Given the description of an element on the screen output the (x, y) to click on. 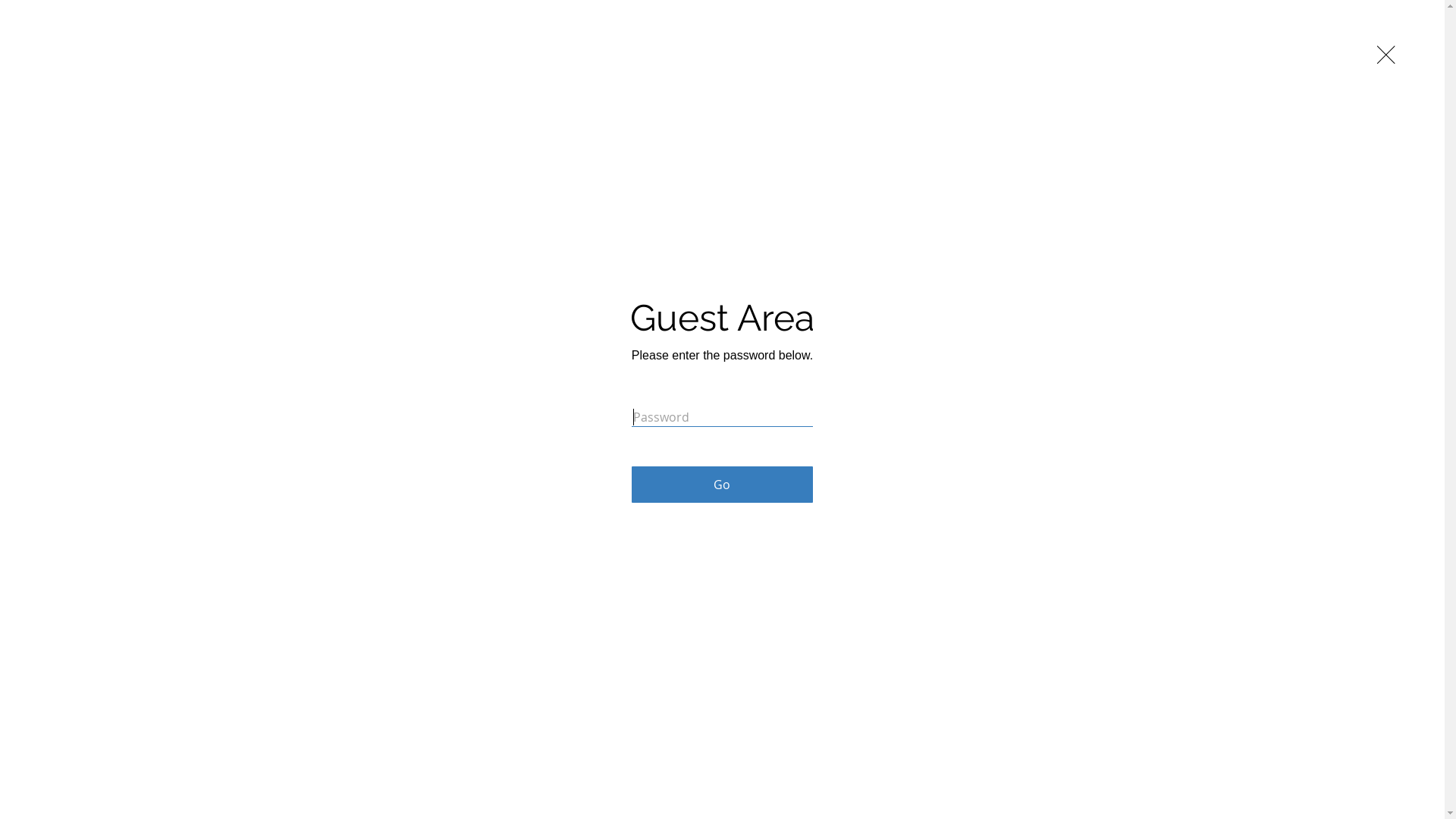
Go Element type: text (721, 484)
